Given the description of an element on the screen output the (x, y) to click on. 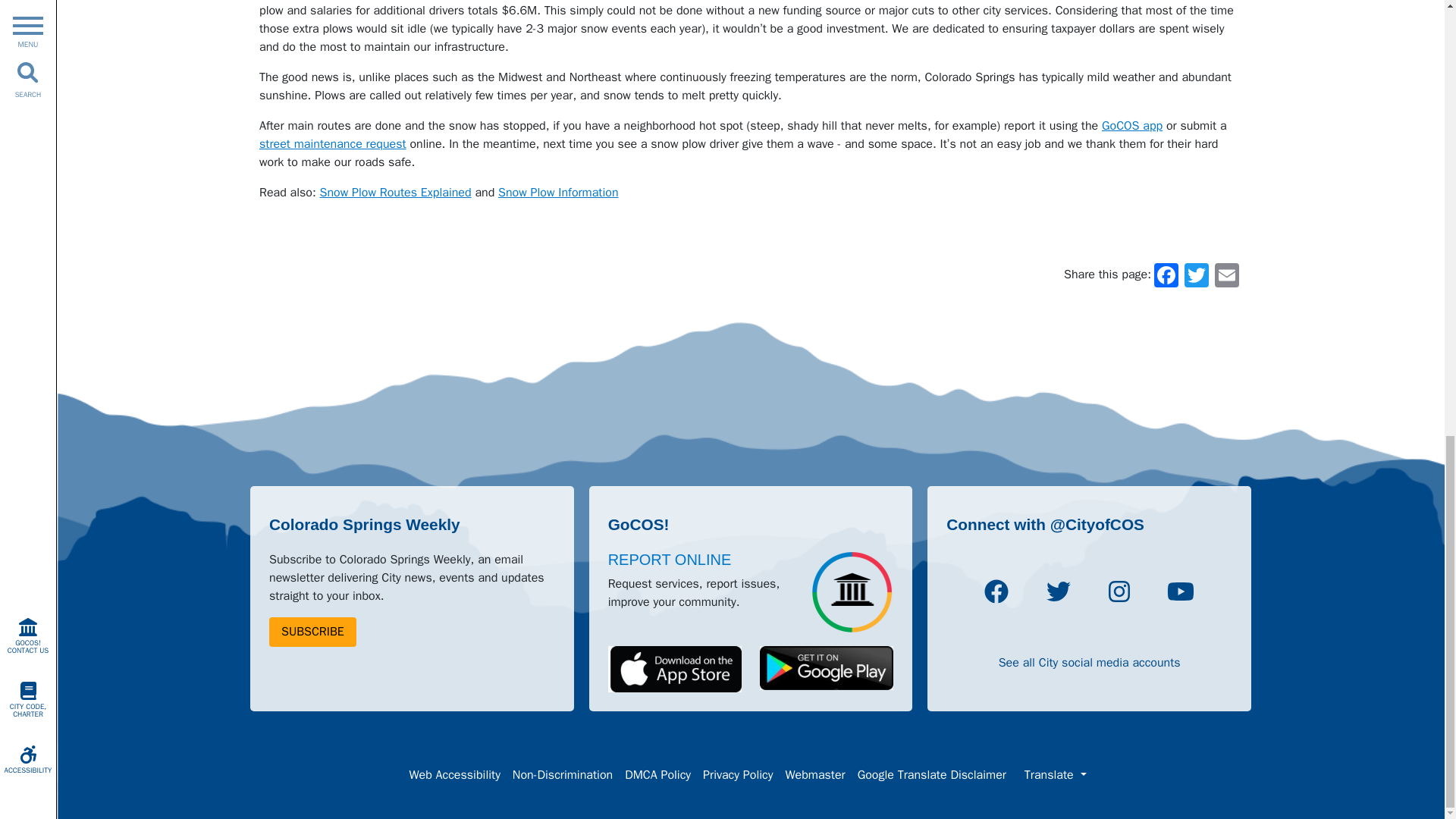
SUBSCRIBE (312, 631)
Non-Discrimination (562, 775)
Facebook (996, 592)
Snow Plow Routes Explained (395, 192)
Webmaster (814, 775)
Web Accessibility (454, 775)
Email (1226, 273)
See all City social media accounts (1089, 662)
Google Translate Disclaimer (931, 775)
Privacy Policy (737, 775)
Twitter (1196, 273)
Youtube (1180, 592)
street maintenance request (332, 143)
Instagram (1118, 592)
DMCA Policy (657, 775)
